Given the description of an element on the screen output the (x, y) to click on. 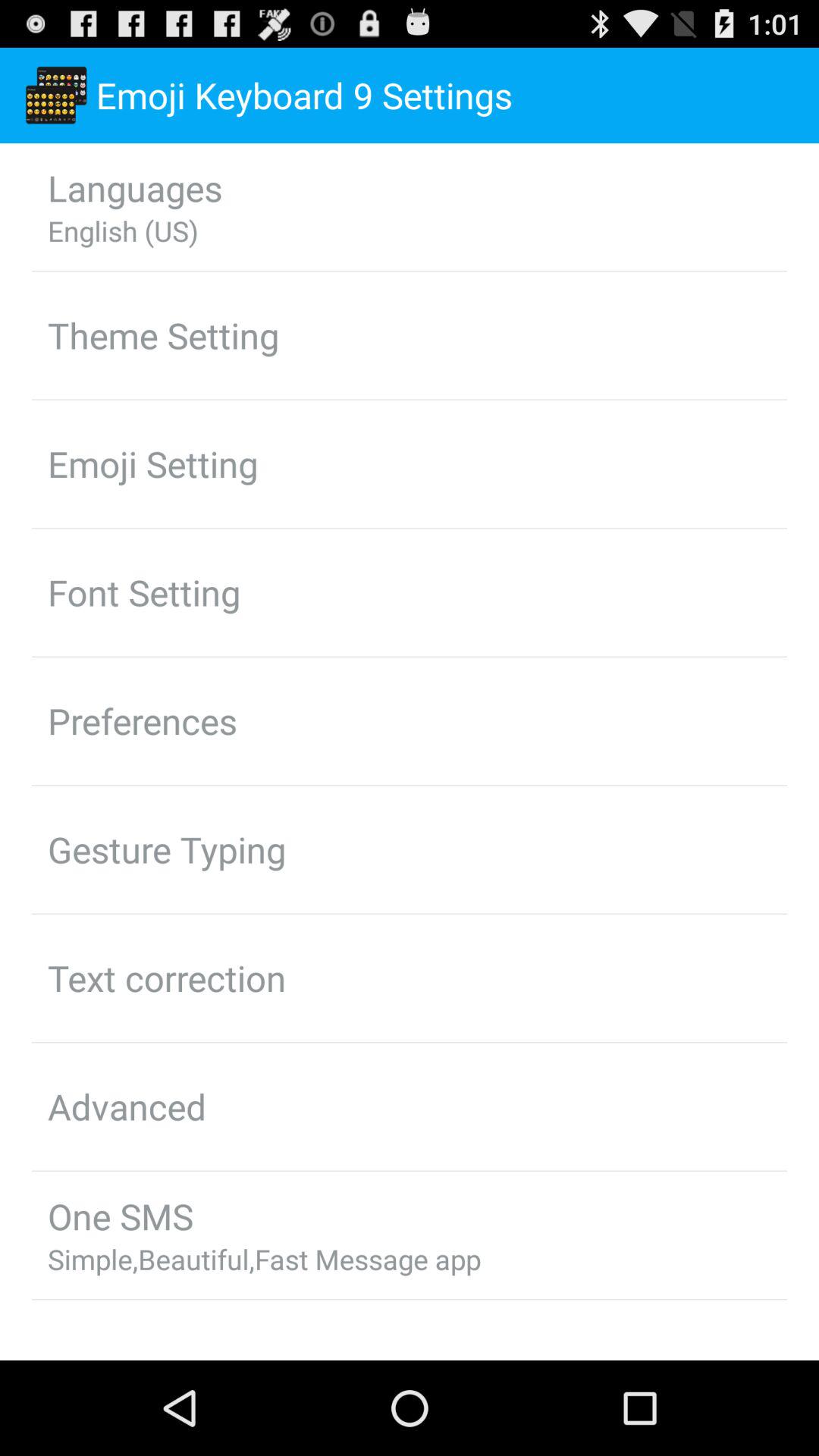
jump to advanced item (126, 1106)
